Given the description of an element on the screen output the (x, y) to click on. 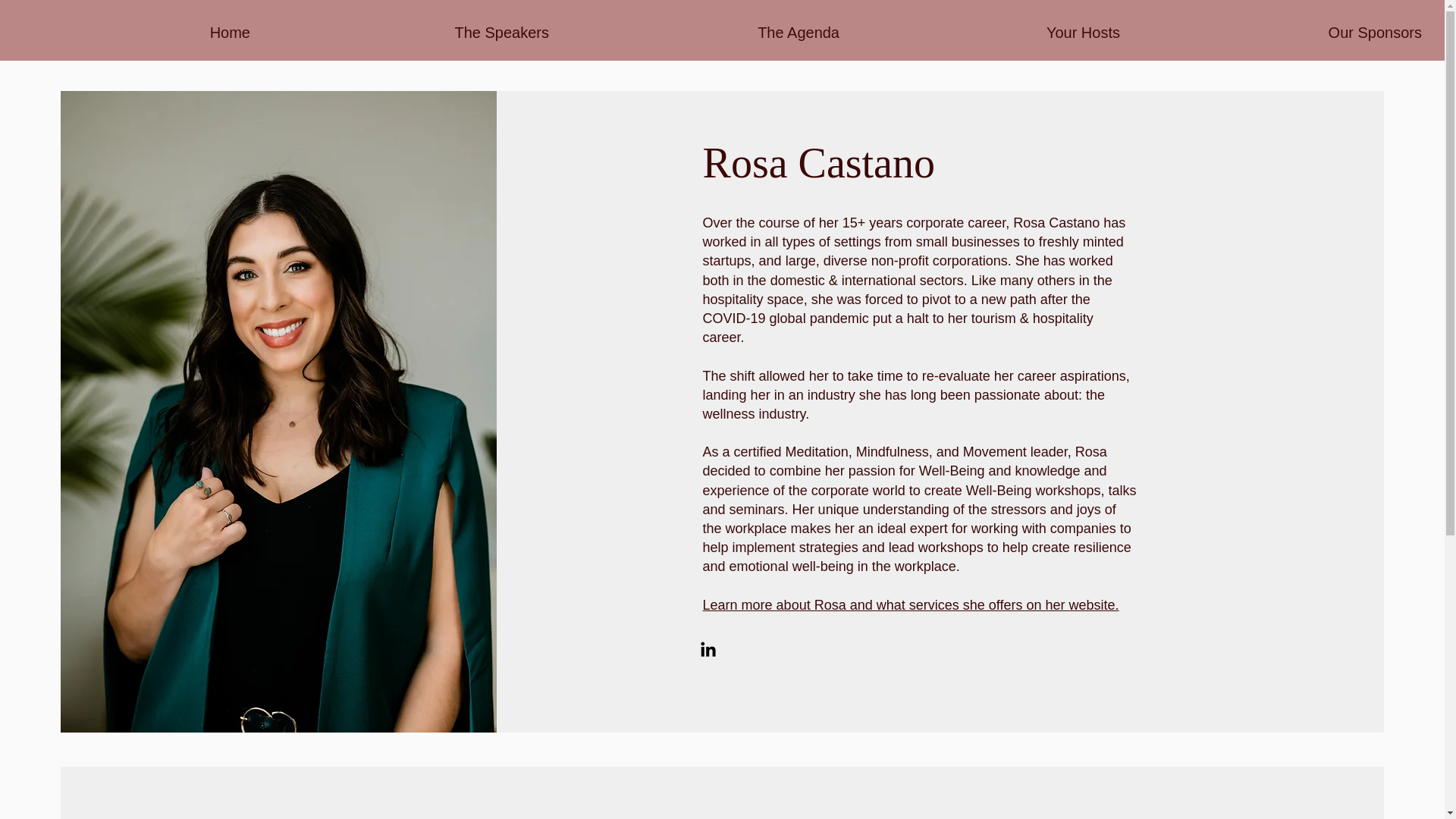
The Speakers (411, 32)
Your Hosts (990, 32)
The Agenda (705, 32)
Home (136, 32)
Our Sponsors (1281, 32)
